Given the description of an element on the screen output the (x, y) to click on. 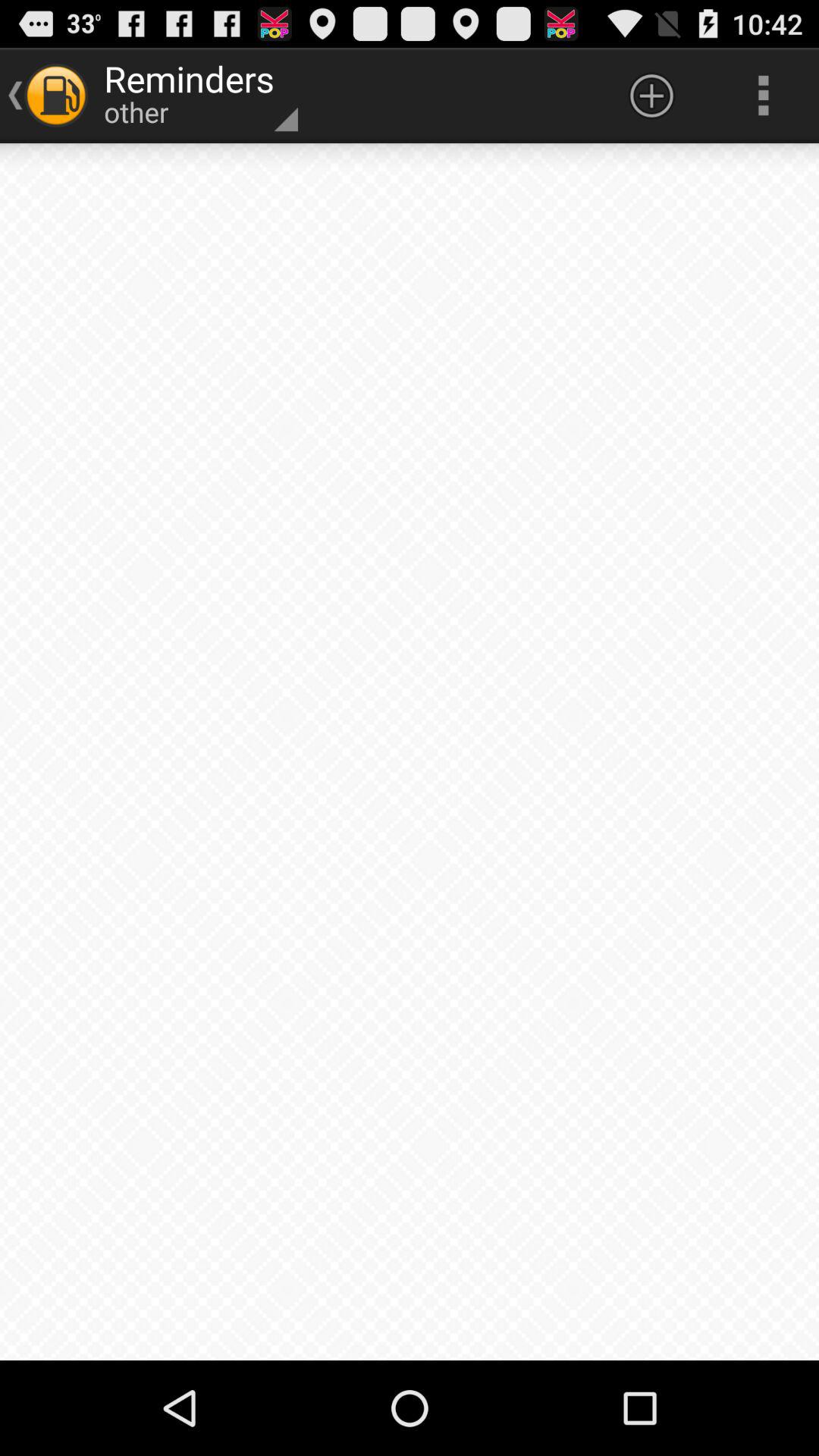
open the app to the right of reminders (651, 95)
